Given the description of an element on the screen output the (x, y) to click on. 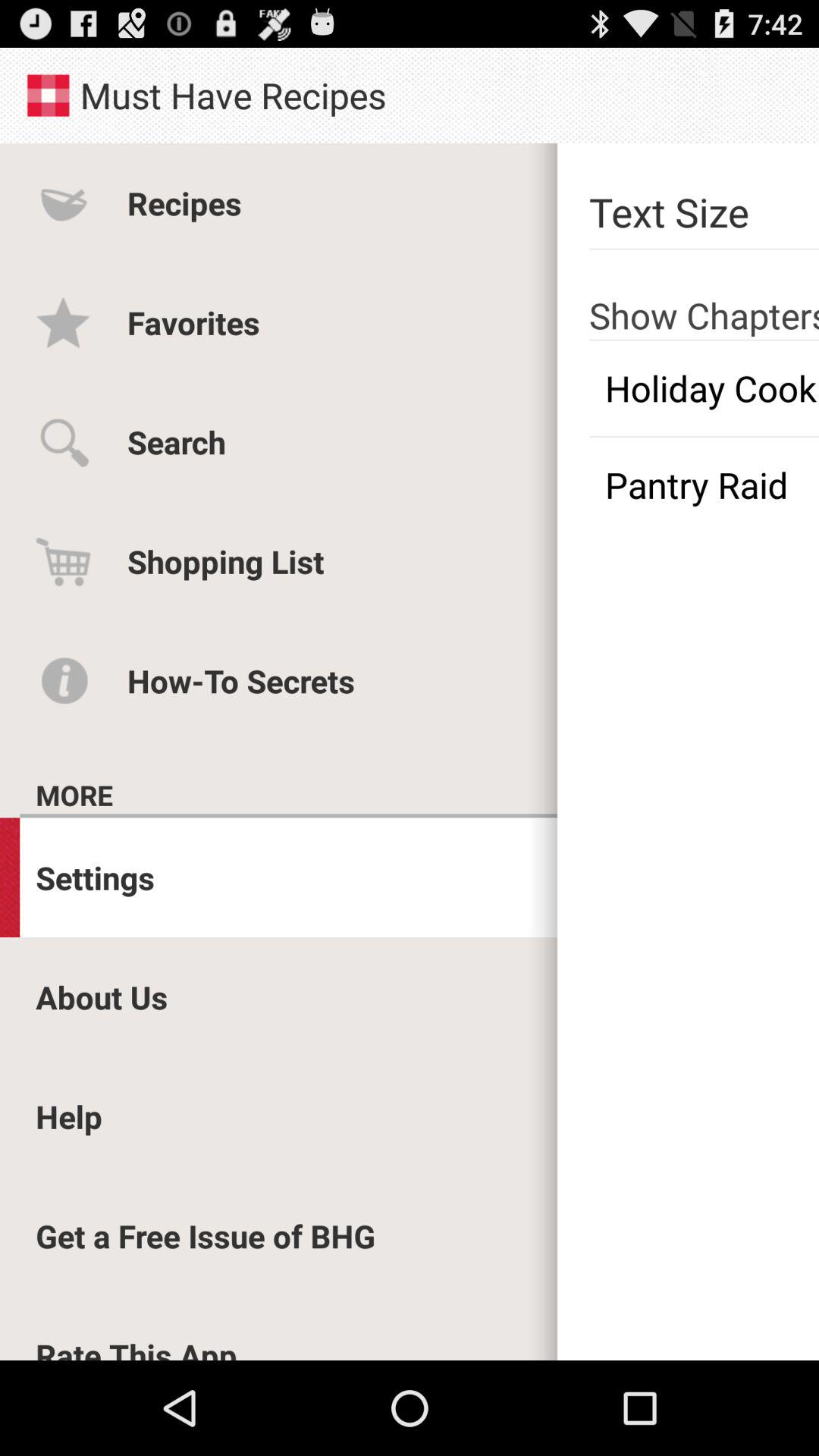
turn on the icon below 
show chapters (704, 388)
